Given the description of an element on the screen output the (x, y) to click on. 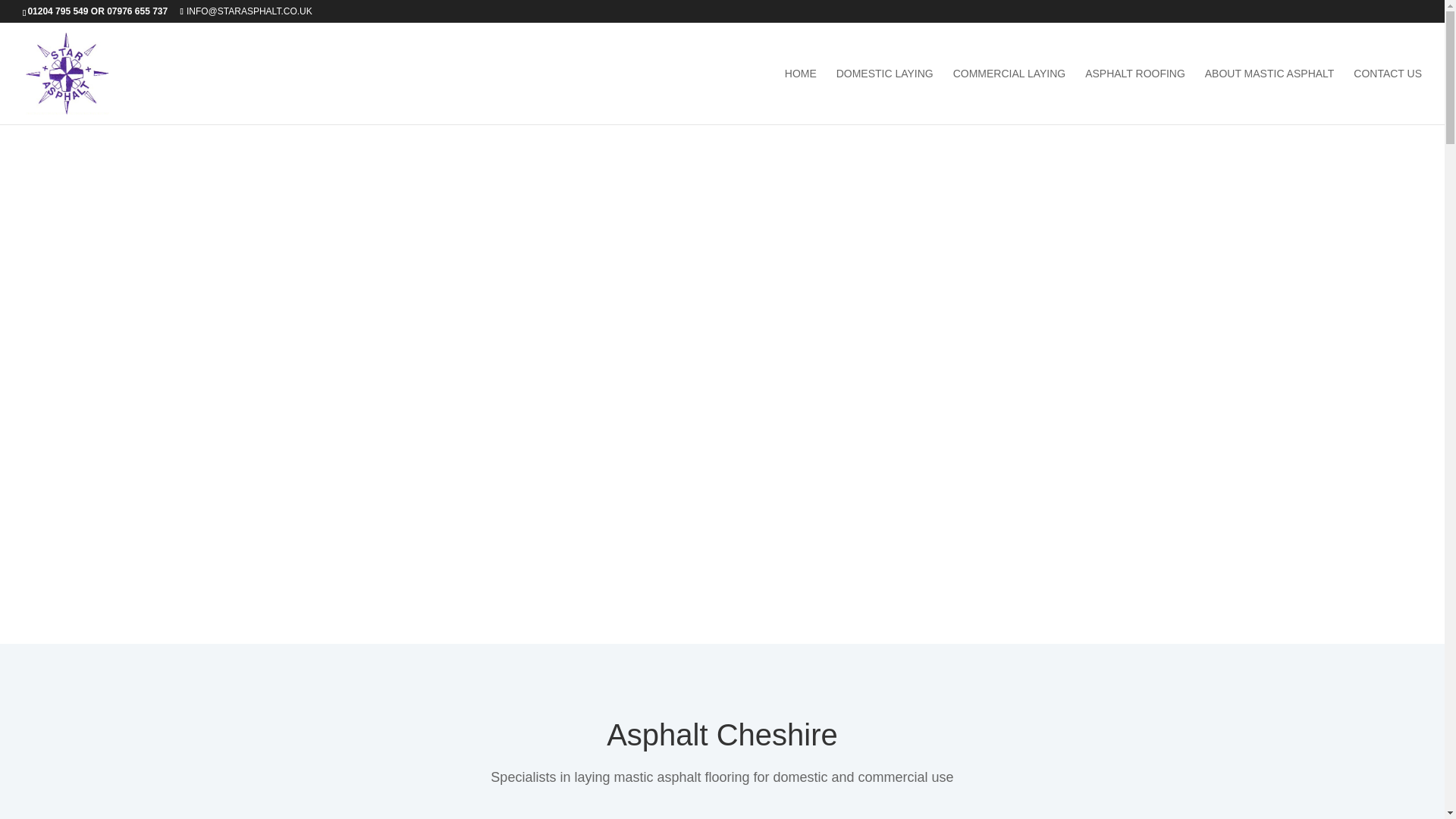
ABOUT MASTIC ASPHALT (1270, 95)
ASPHALT ROOFING (1134, 95)
DOMESTIC LAYING (884, 95)
COMMERCIAL LAYING (1009, 95)
CONTACT US (1388, 95)
